Given the description of an element on the screen output the (x, y) to click on. 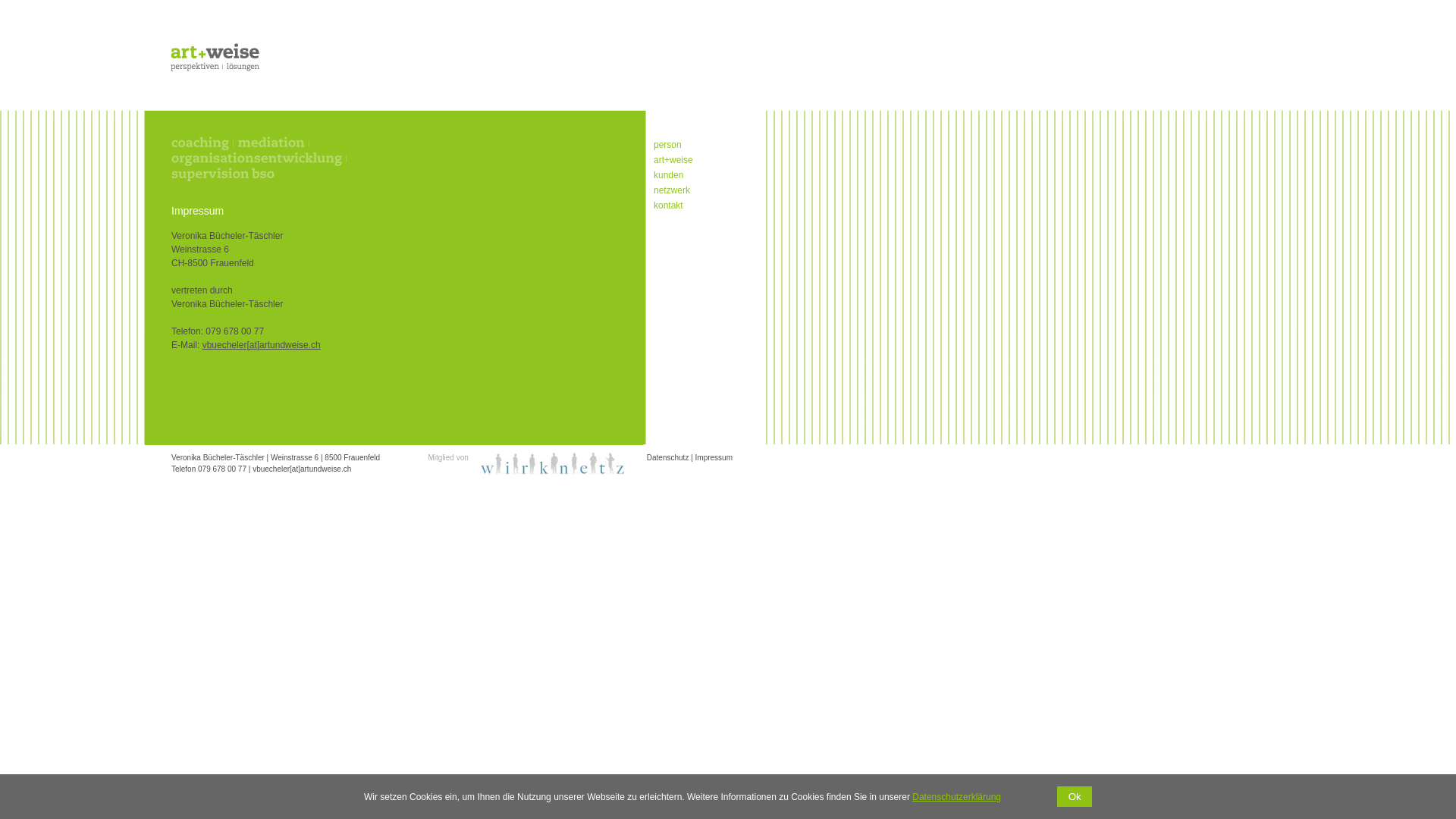
Impressum Element type: text (713, 457)
vbuecheler[at]artundweise.ch Element type: text (301, 468)
person Element type: text (696, 144)
vbuecheler[at]artundweise.ch Element type: text (261, 344)
art+weise Element type: text (696, 159)
kontakt Element type: text (696, 205)
netzwerk Element type: text (696, 189)
kunden Element type: text (696, 174)
Ok Element type: text (1074, 796)
Datenschutz Element type: text (667, 457)
